Given the description of an element on the screen output the (x, y) to click on. 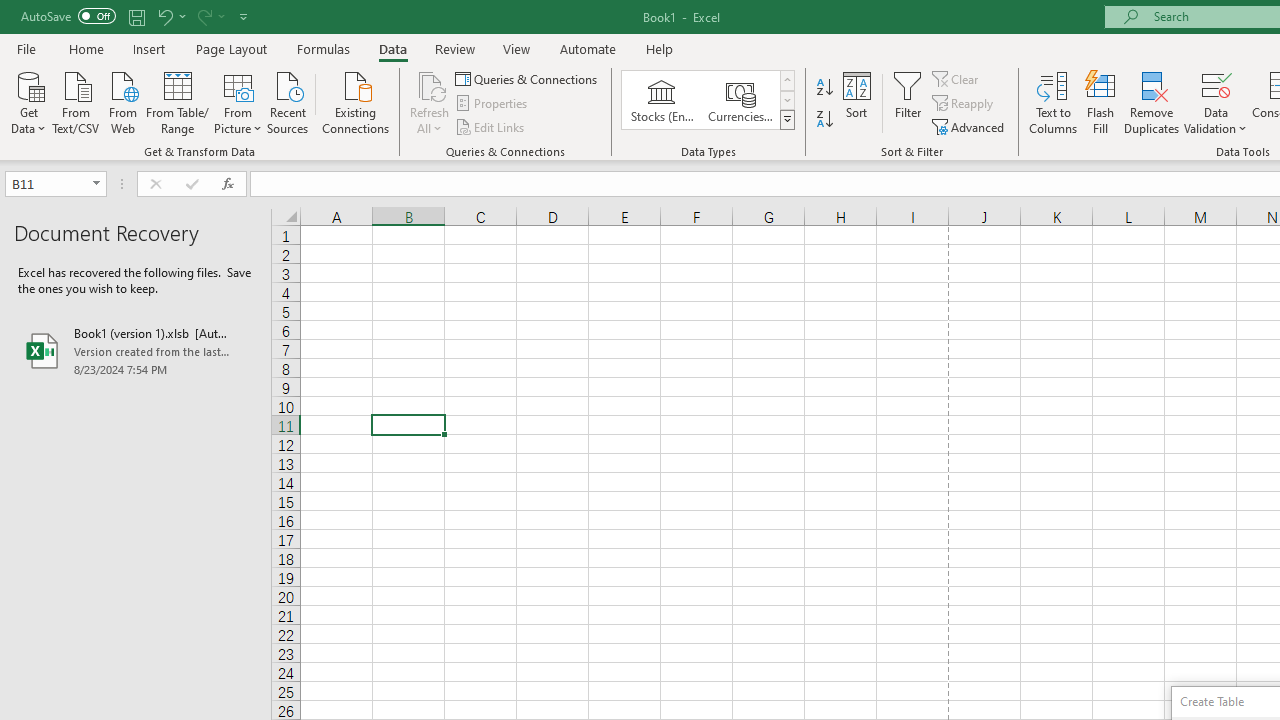
Data Types (786, 120)
From Text/CSV (75, 101)
Text to Columns... (1053, 102)
Advanced... (970, 126)
Sort... (856, 102)
Flash Fill (1101, 102)
AutomationID: ConvertToLinkedEntity (708, 99)
